Given the description of an element on the screen output the (x, y) to click on. 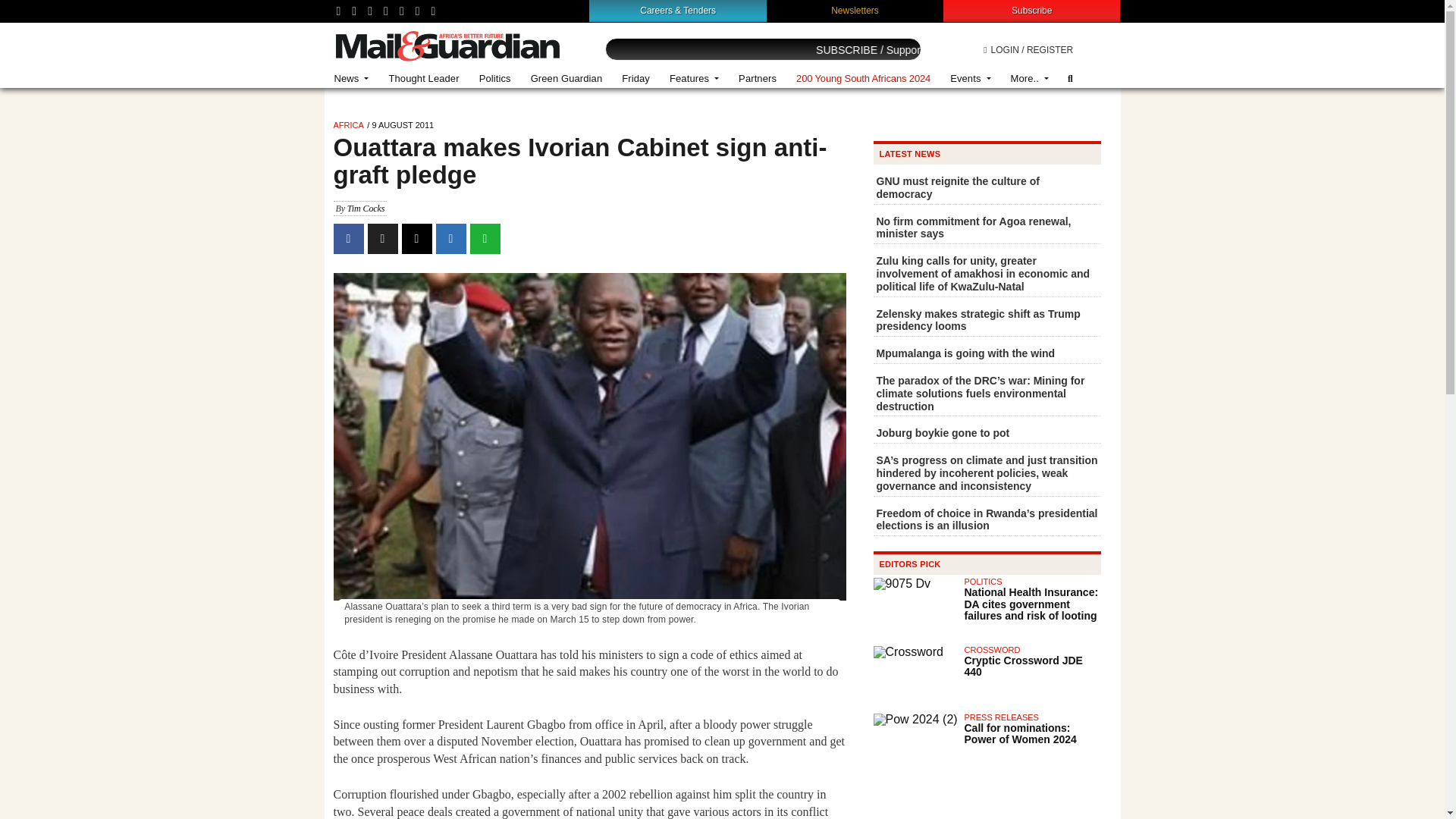
News (351, 78)
Subscribe (1031, 9)
Newsletters (855, 9)
News (351, 78)
Politics (494, 78)
Thought Leader (423, 78)
Features (694, 78)
Green Guardian (566, 78)
Friday (635, 78)
